Given the description of an element on the screen output the (x, y) to click on. 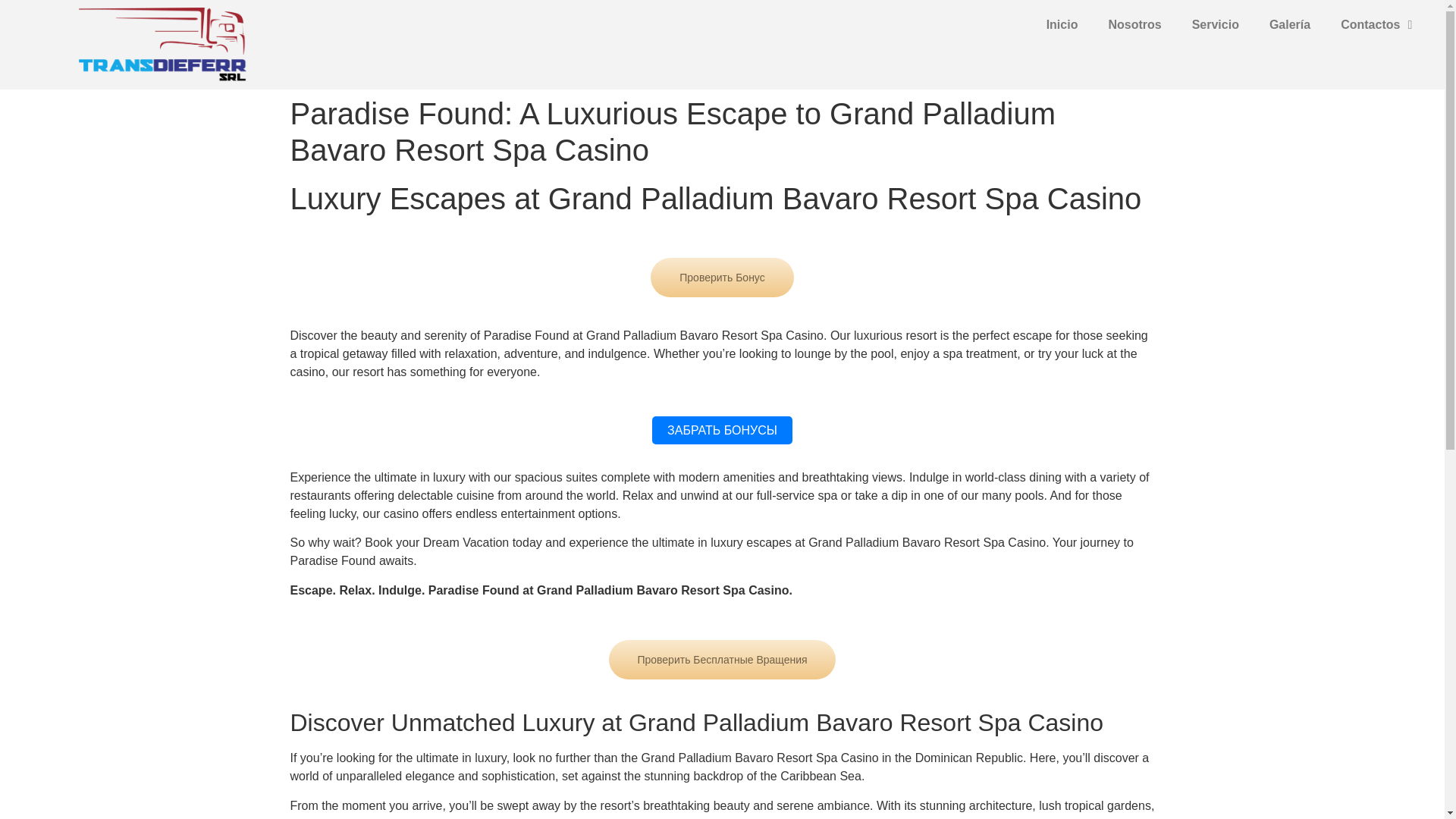
Servicio (1214, 24)
Nosotros (1134, 24)
Contactos (1375, 24)
Inicio (1061, 24)
